Given the description of an element on the screen output the (x, y) to click on. 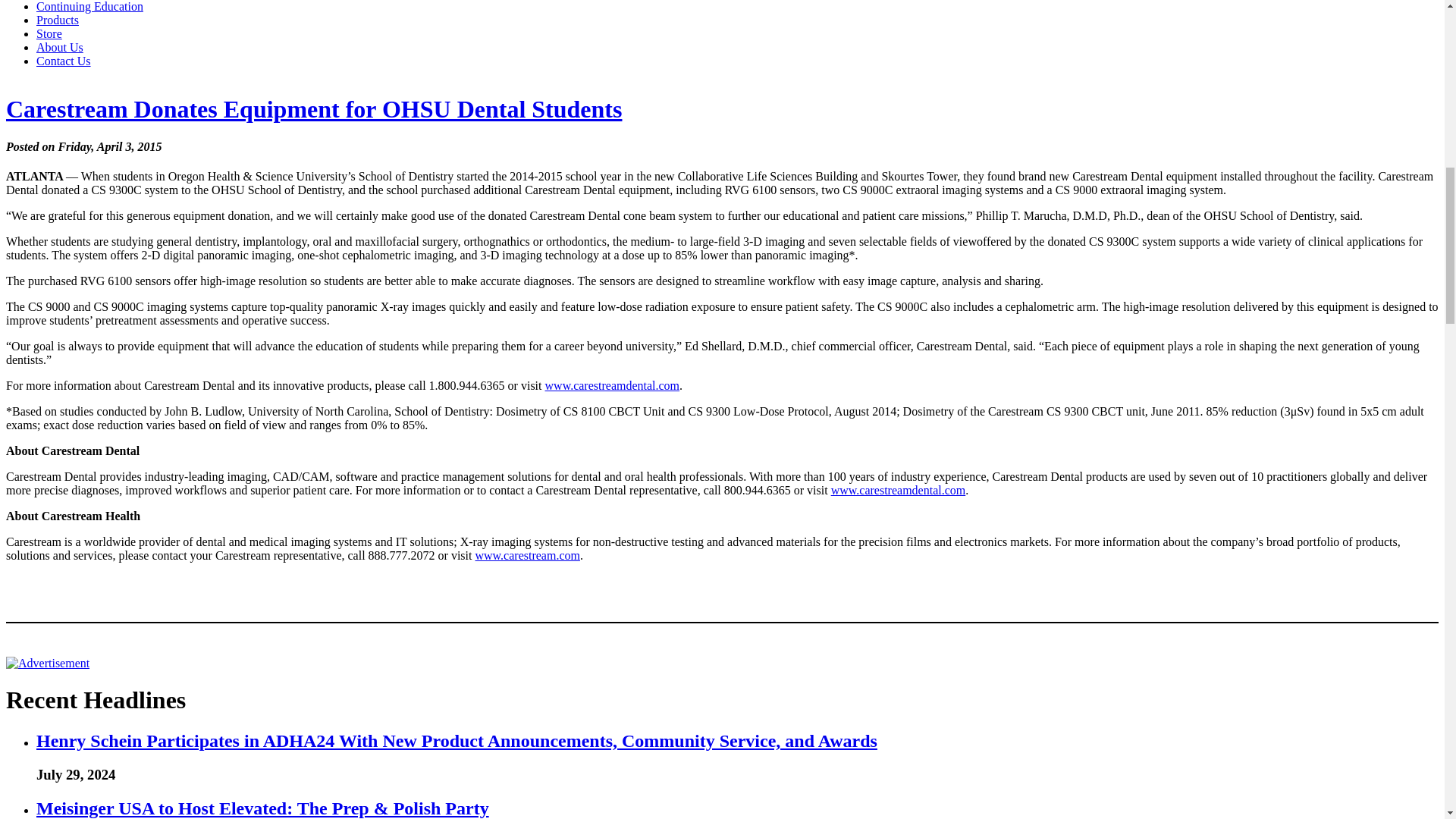
 Advertisement (46, 663)
